Given the description of an element on the screen output the (x, y) to click on. 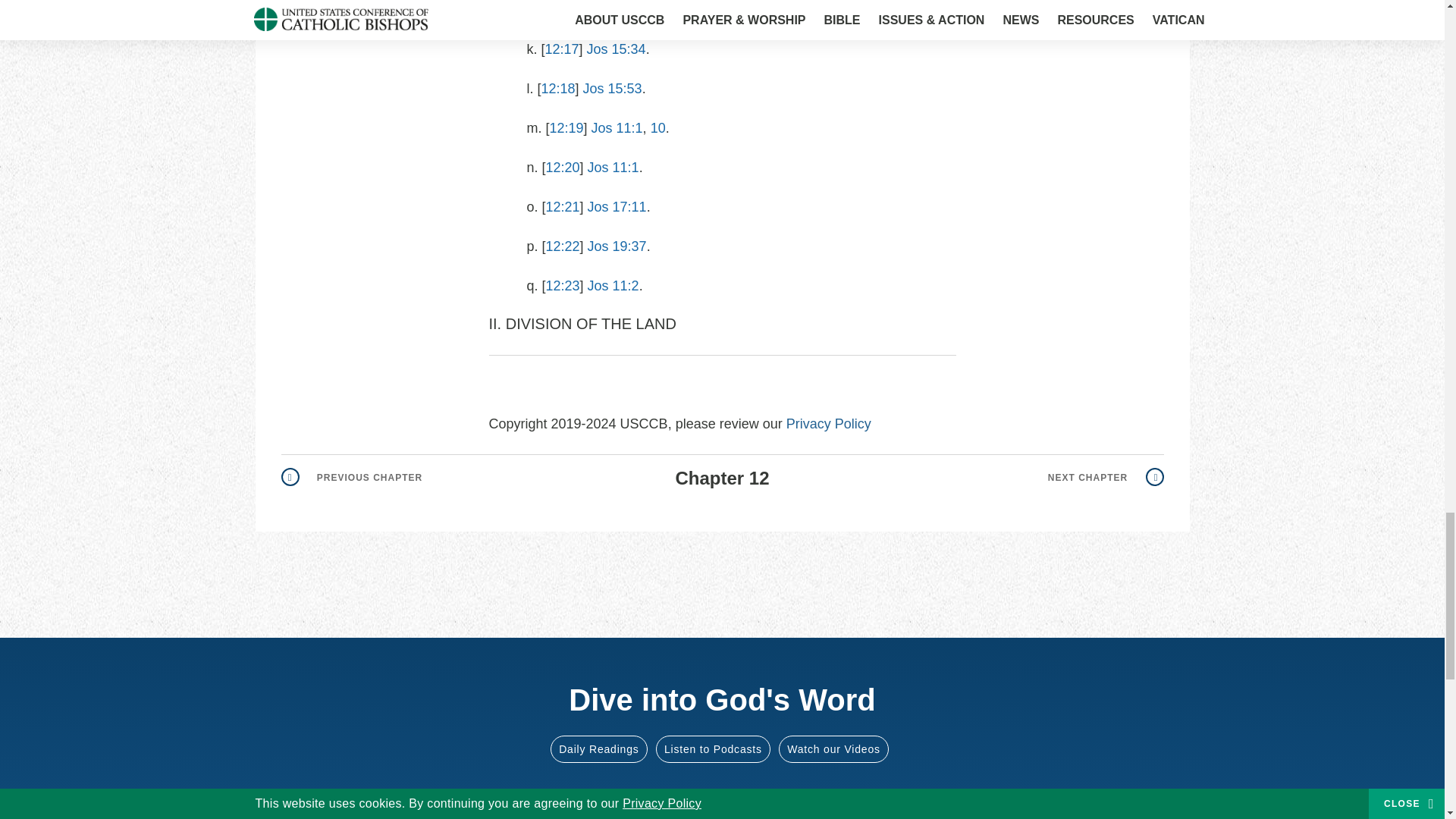
Go to next page (1105, 477)
Go to previous page (351, 477)
